Given the description of an element on the screen output the (x, y) to click on. 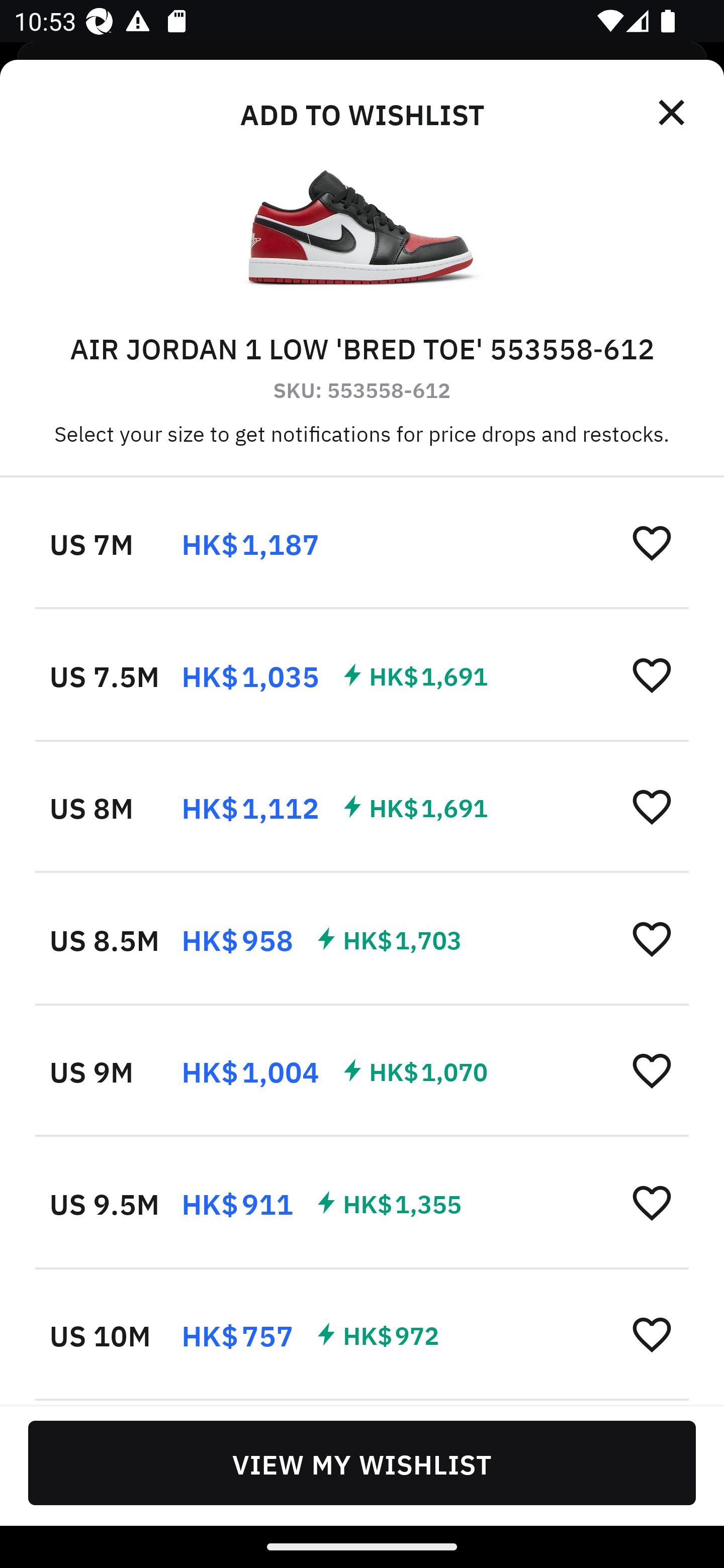
 (672, 112)
󰋕 (651, 542)
󰋕 (651, 674)
󰋕 (651, 806)
󰋕 (651, 938)
󰋕 (651, 1069)
󰋕 (651, 1201)
󰋕 (651, 1333)
VIEW MY WISHLIST (361, 1462)
